Given the description of an element on the screen output the (x, y) to click on. 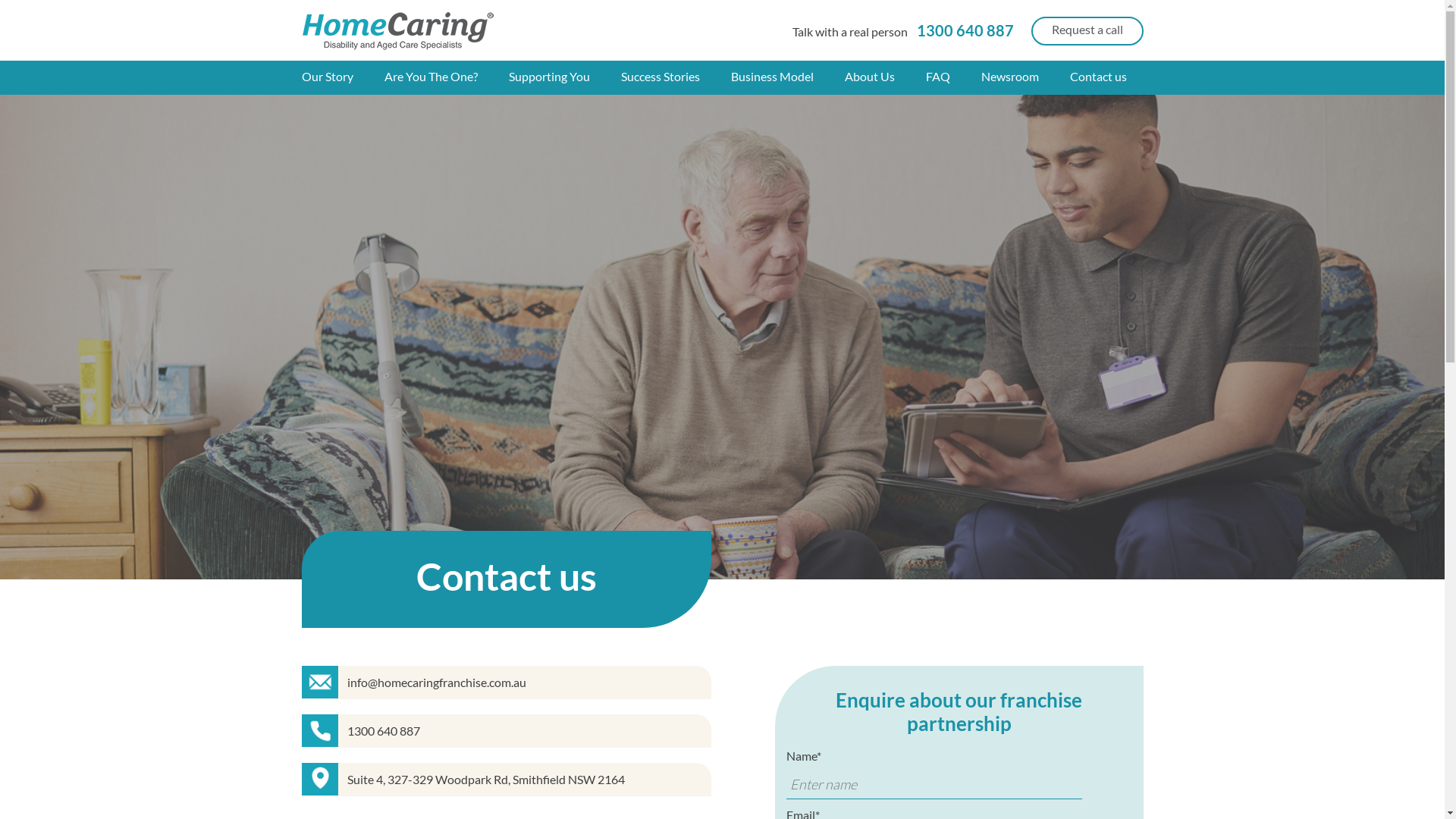
info@homecaringfranchise.com.au Element type: text (436, 681)
1300 640 887 Element type: text (963, 30)
Success Stories Element type: text (675, 77)
Home Care Franchise  Element type: hover (398, 30)
Request a call Element type: text (1087, 30)
Business Model Element type: text (787, 77)
About Us Element type: text (884, 77)
1300 640 887 Element type: text (383, 730)
Contact us Element type: text (1097, 77)
Our Story Element type: text (342, 77)
Newsroom Element type: text (1025, 77)
Supporting You Element type: text (564, 77)
Are You The One? Element type: text (445, 77)
FAQ Element type: text (952, 77)
